Given the description of an element on the screen output the (x, y) to click on. 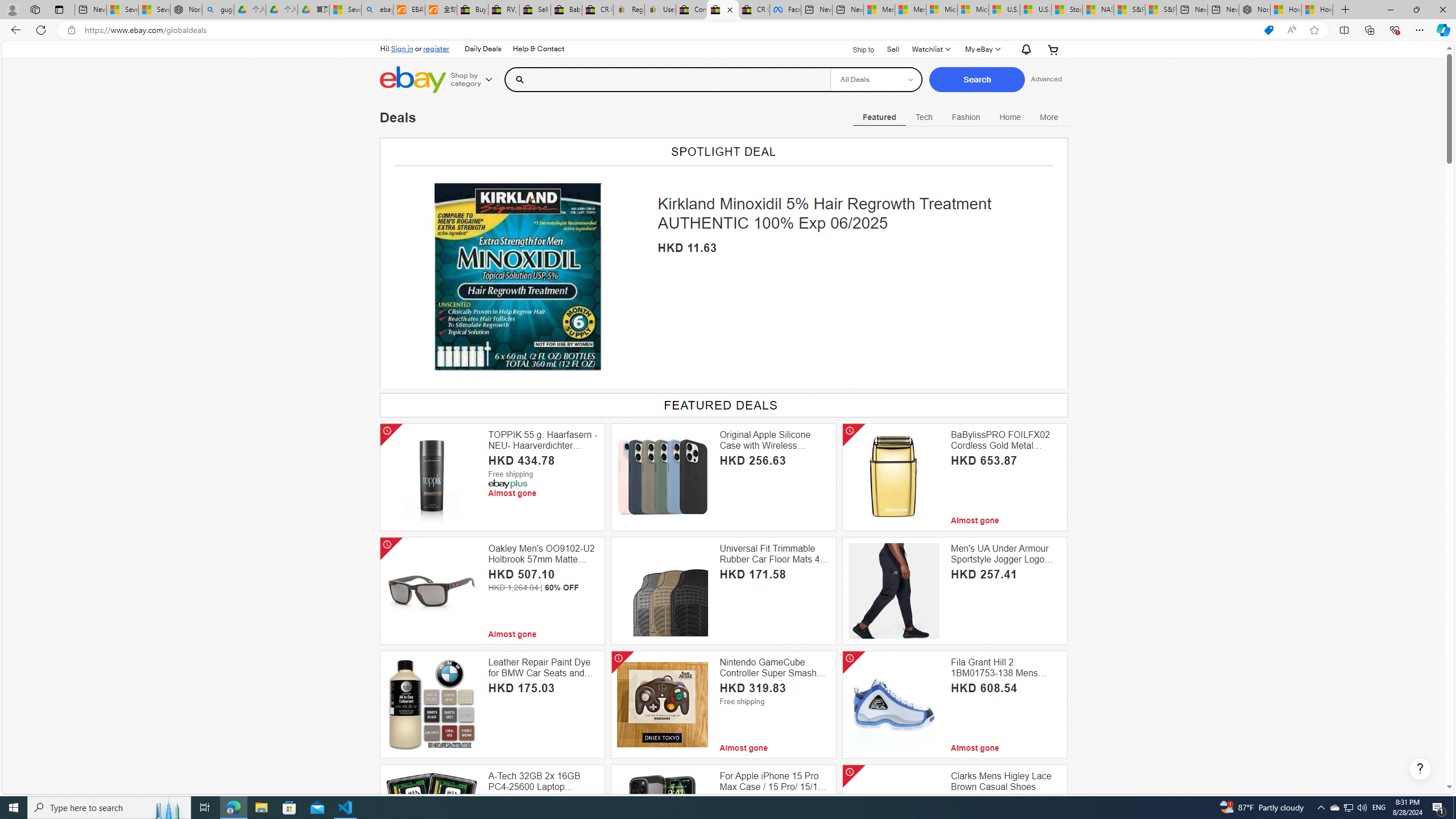
Ship to (855, 49)
Baby Keepsakes & Announcements for sale | eBay (566, 9)
Sign in (401, 48)
Search (976, 79)
